Given the description of an element on the screen output the (x, y) to click on. 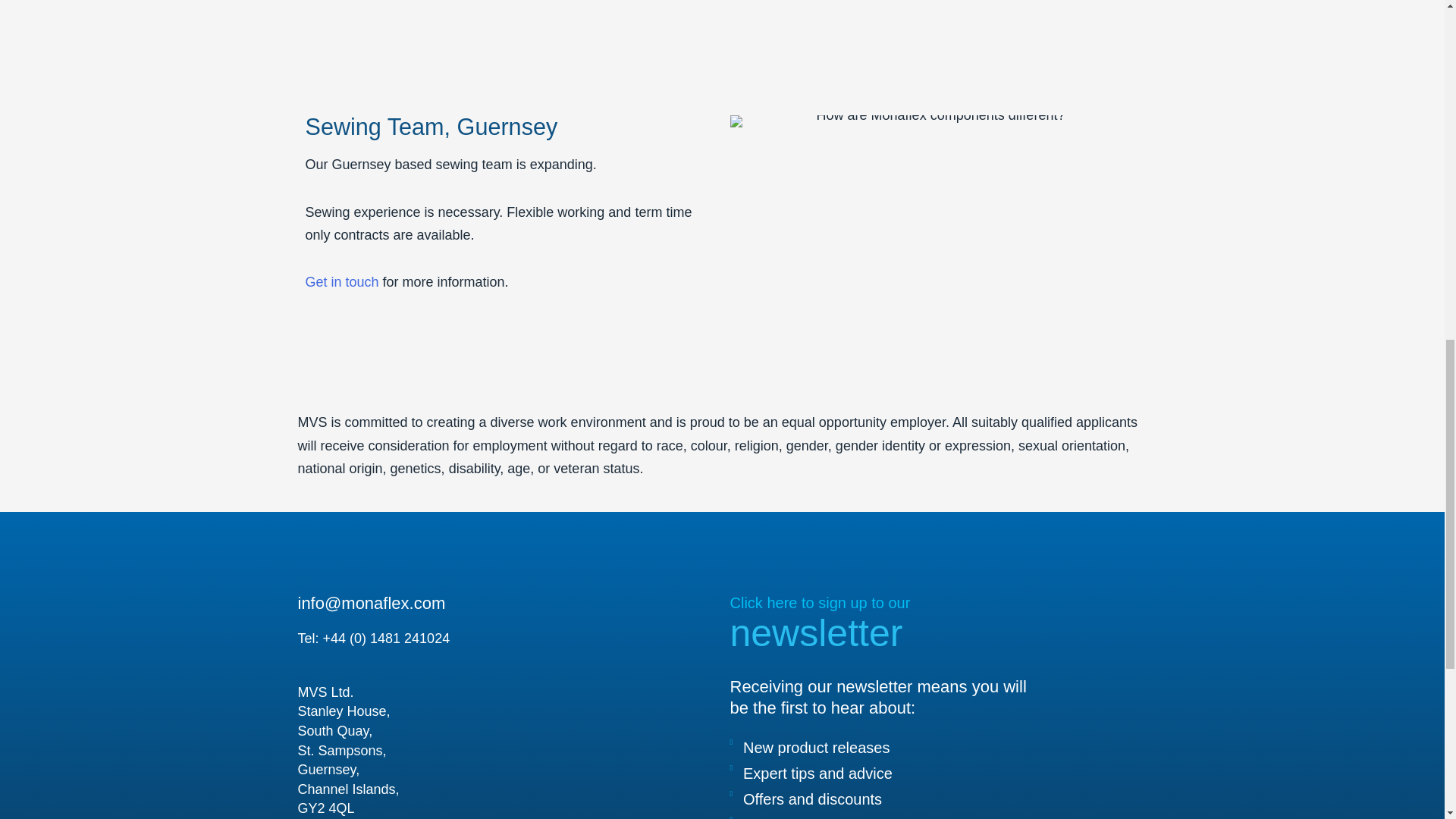
newsletter (815, 632)
Get in touch (341, 281)
Click here to sign up to our (819, 602)
Get in touch (341, 0)
